Given the description of an element on the screen output the (x, y) to click on. 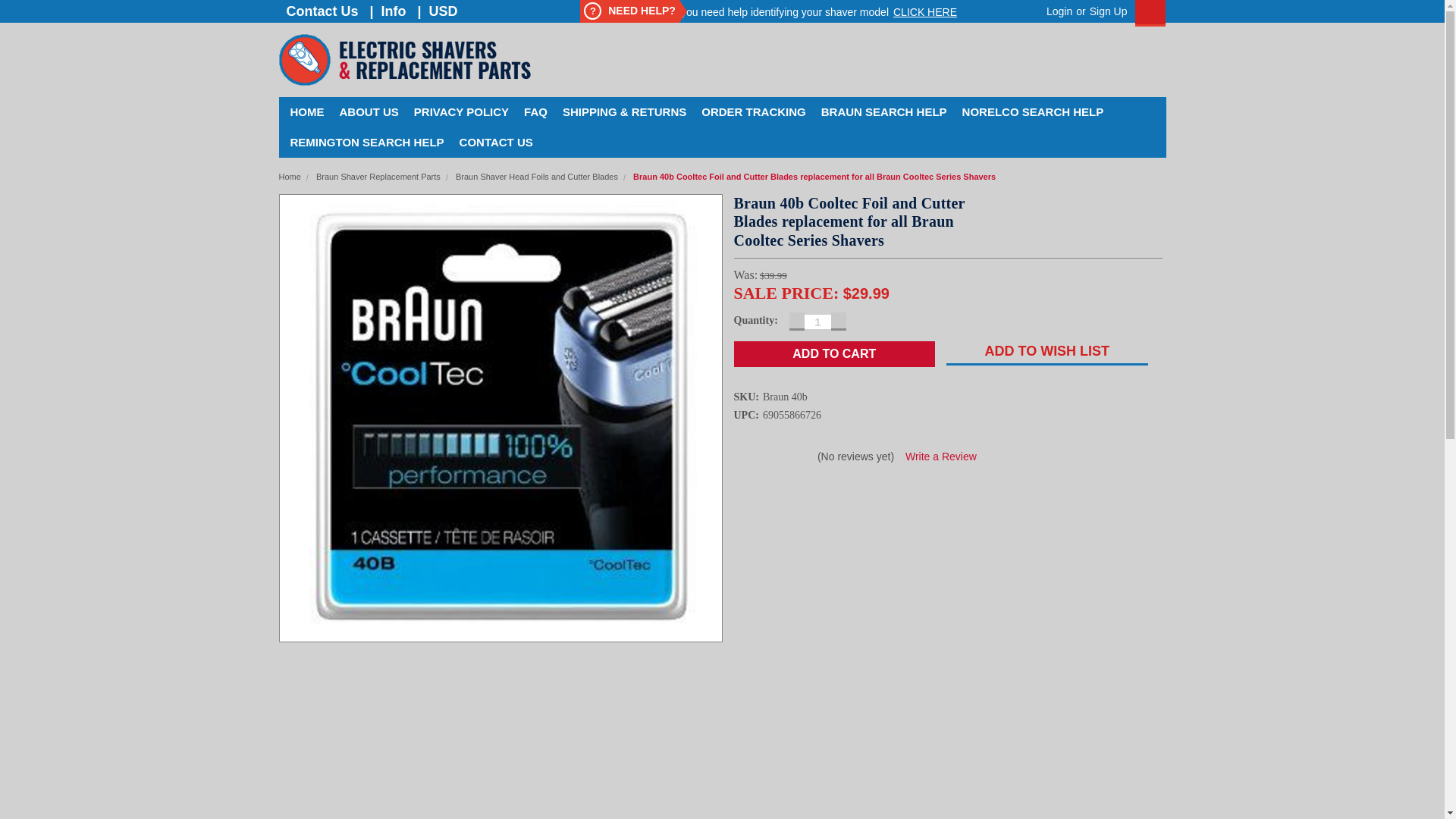
USD (446, 11)
Email (785, 502)
Currency Selector (446, 11)
Login (1058, 11)
Pinterest (904, 502)
Info (392, 10)
Add to Cart (834, 353)
Twitter (865, 502)
1 (818, 321)
Sign Up (1106, 11)
